Given the description of an element on the screen output the (x, y) to click on. 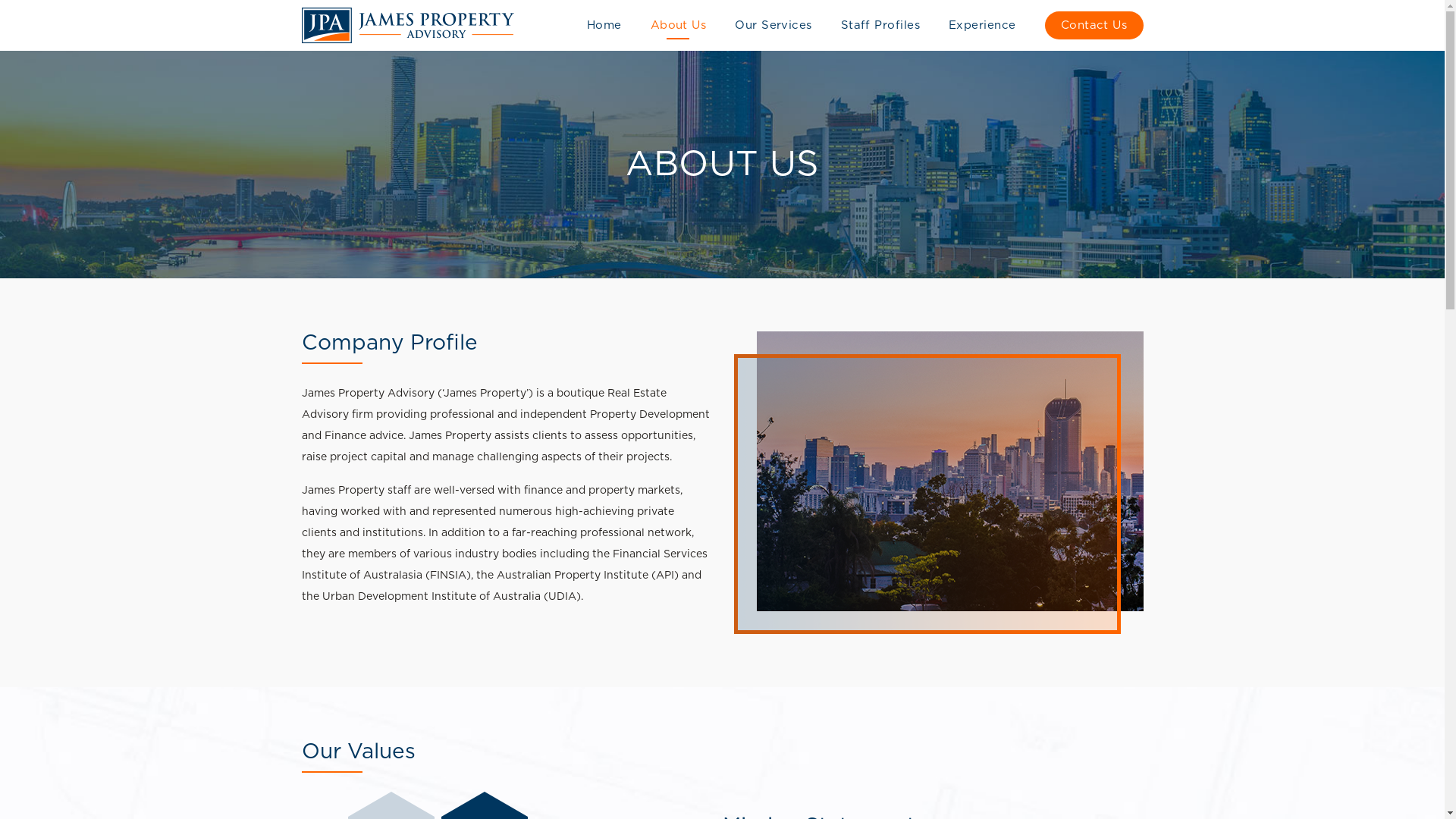
About Us Element type: text (678, 25)
Experience Element type: text (982, 25)
Home Element type: text (603, 25)
Our Services Element type: text (772, 25)
Contact Us Element type: text (1093, 24)
Staff Profiles Element type: text (879, 25)
